Given the description of an element on the screen output the (x, y) to click on. 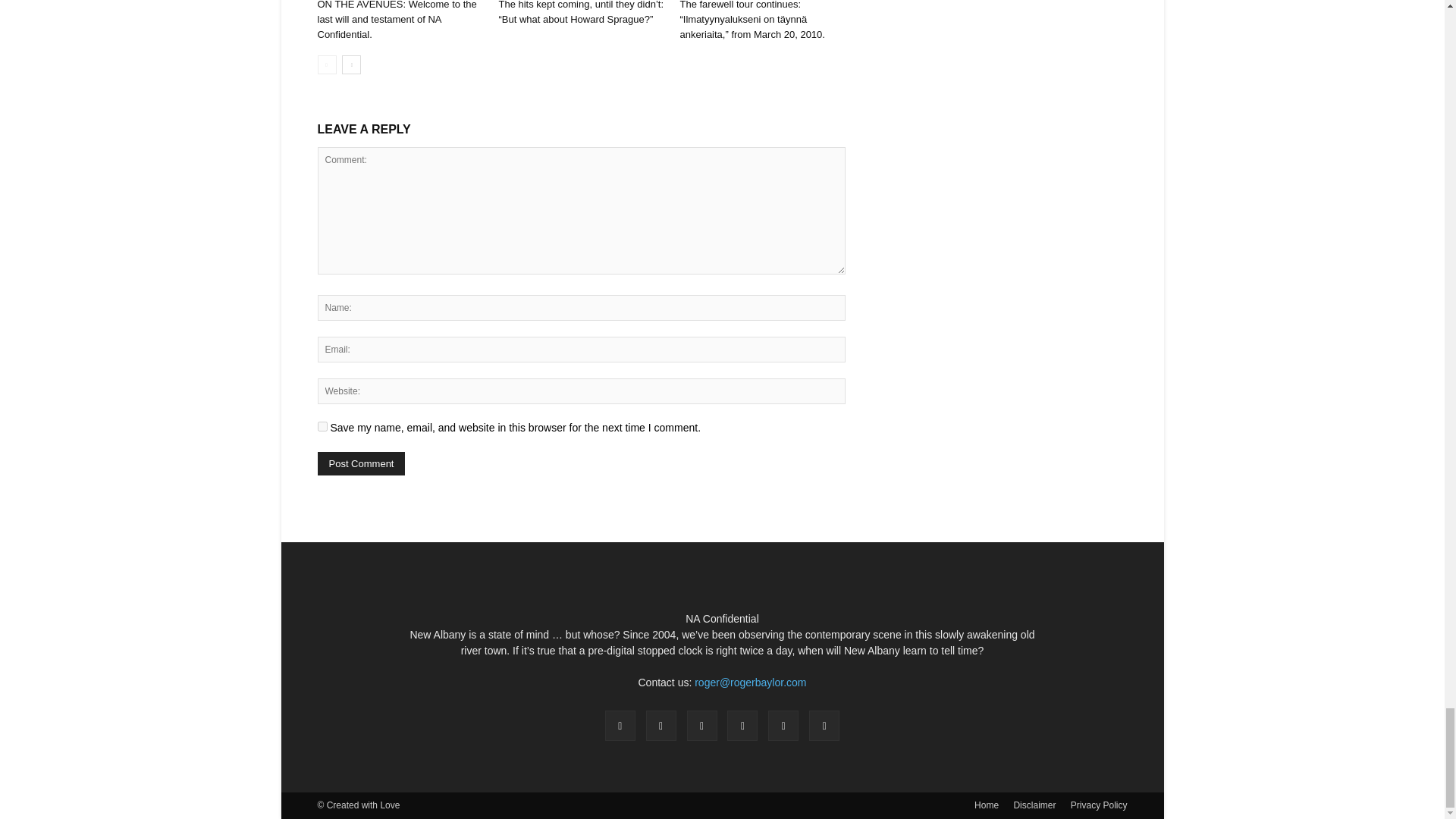
yes (321, 426)
Post Comment (360, 463)
